Given the description of an element on the screen output the (x, y) to click on. 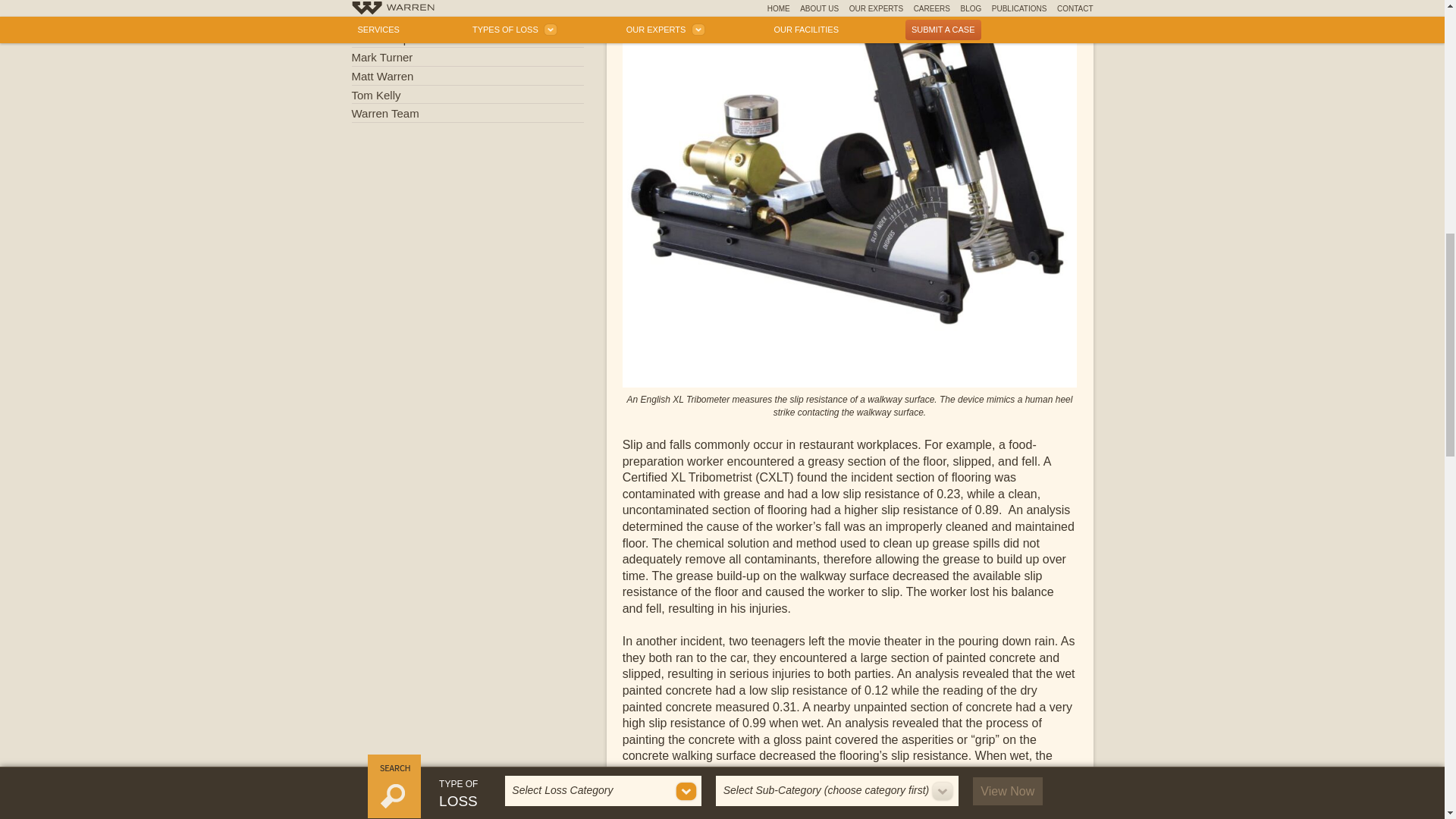
Posts by Warren Team (467, 113)
Posts by Matt Warren (467, 75)
Posts by Jennifer Morningstar (467, 19)
Posts by Tom Kelly (467, 94)
Posts by Jeffery H. Warren (467, 5)
Posts by Mark Turner (467, 56)
Posts by John Phillips (467, 38)
